Given the description of an element on the screen output the (x, y) to click on. 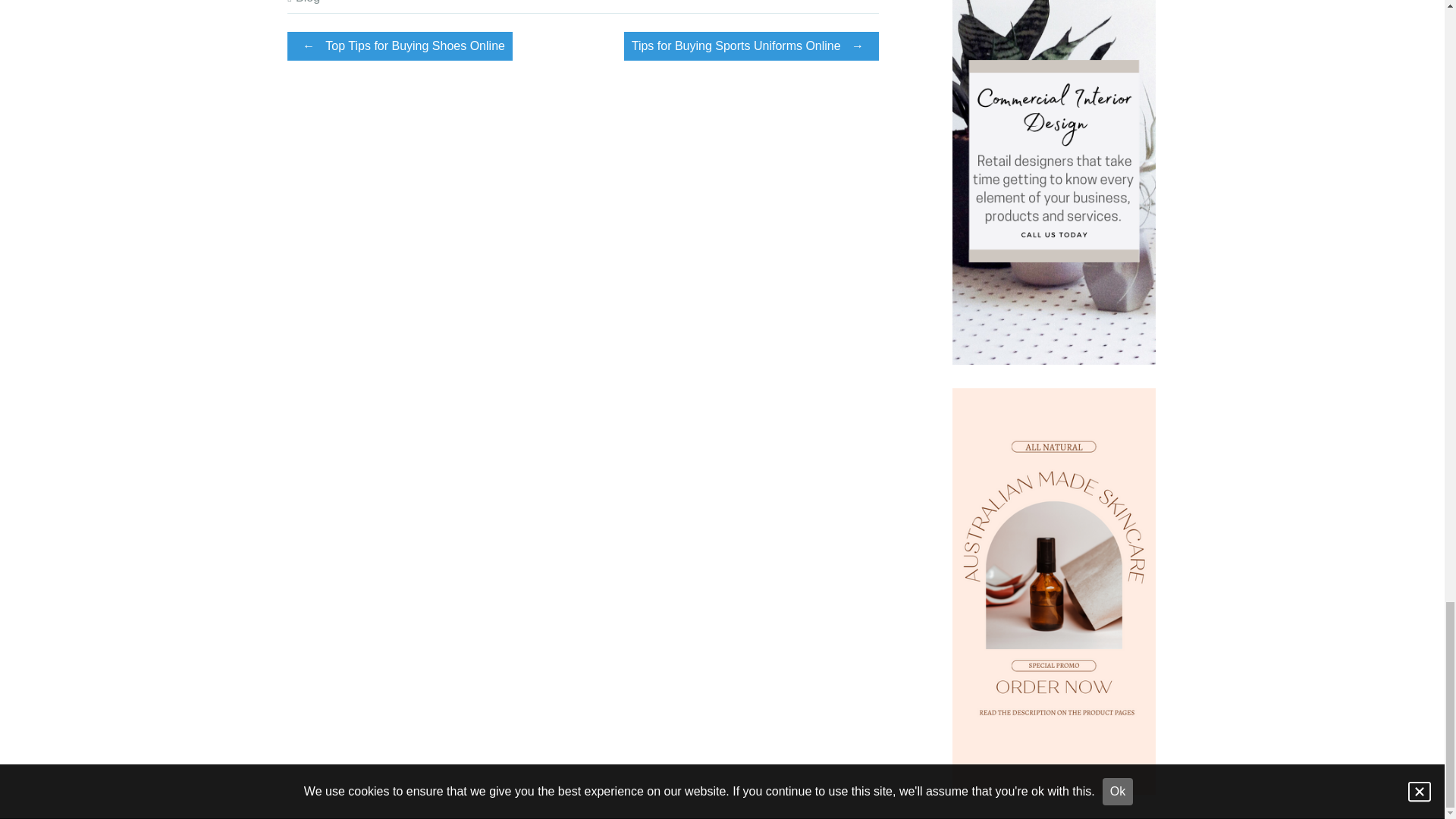
Blog (307, 2)
